Given the description of an element on the screen output the (x, y) to click on. 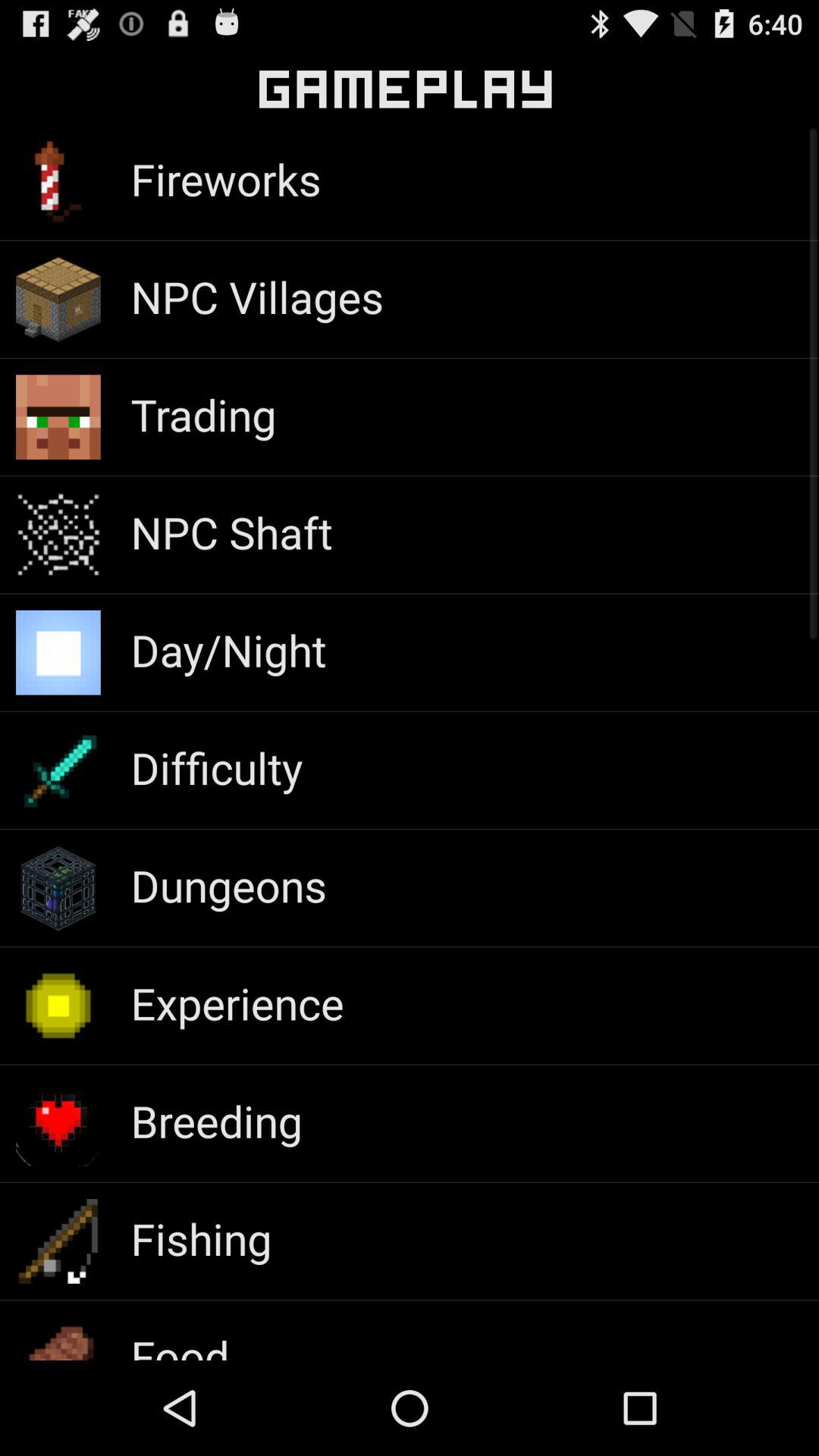
scroll to difficulty (216, 767)
